Given the description of an element on the screen output the (x, y) to click on. 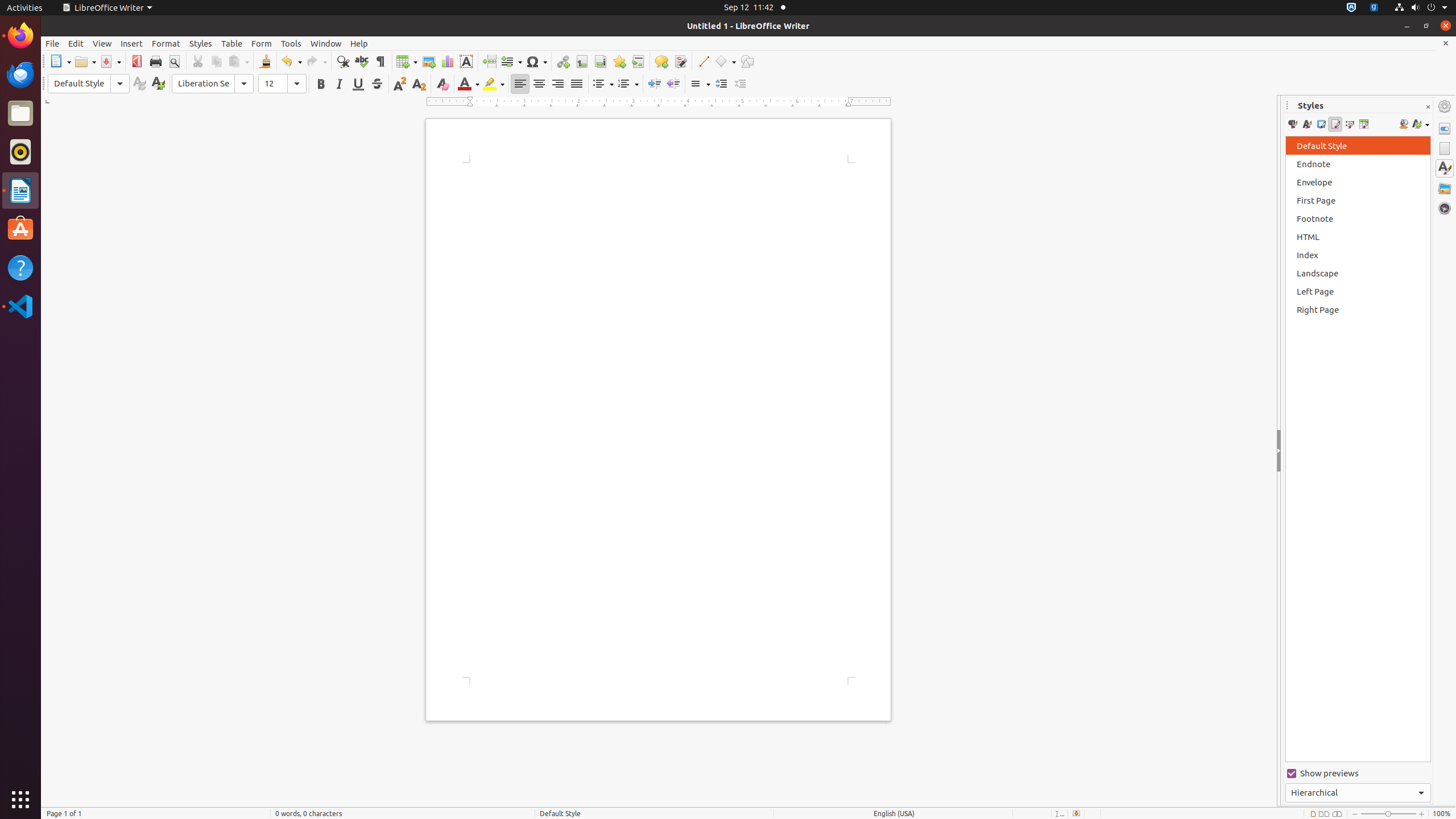
Cut Element type: push-button (197, 61)
Insert Element type: menu (131, 43)
Bookmark Element type: push-button (618, 61)
Justified Element type: toggle-button (576, 83)
System Element type: menu (1420, 7)
